Given the description of an element on the screen output the (x, y) to click on. 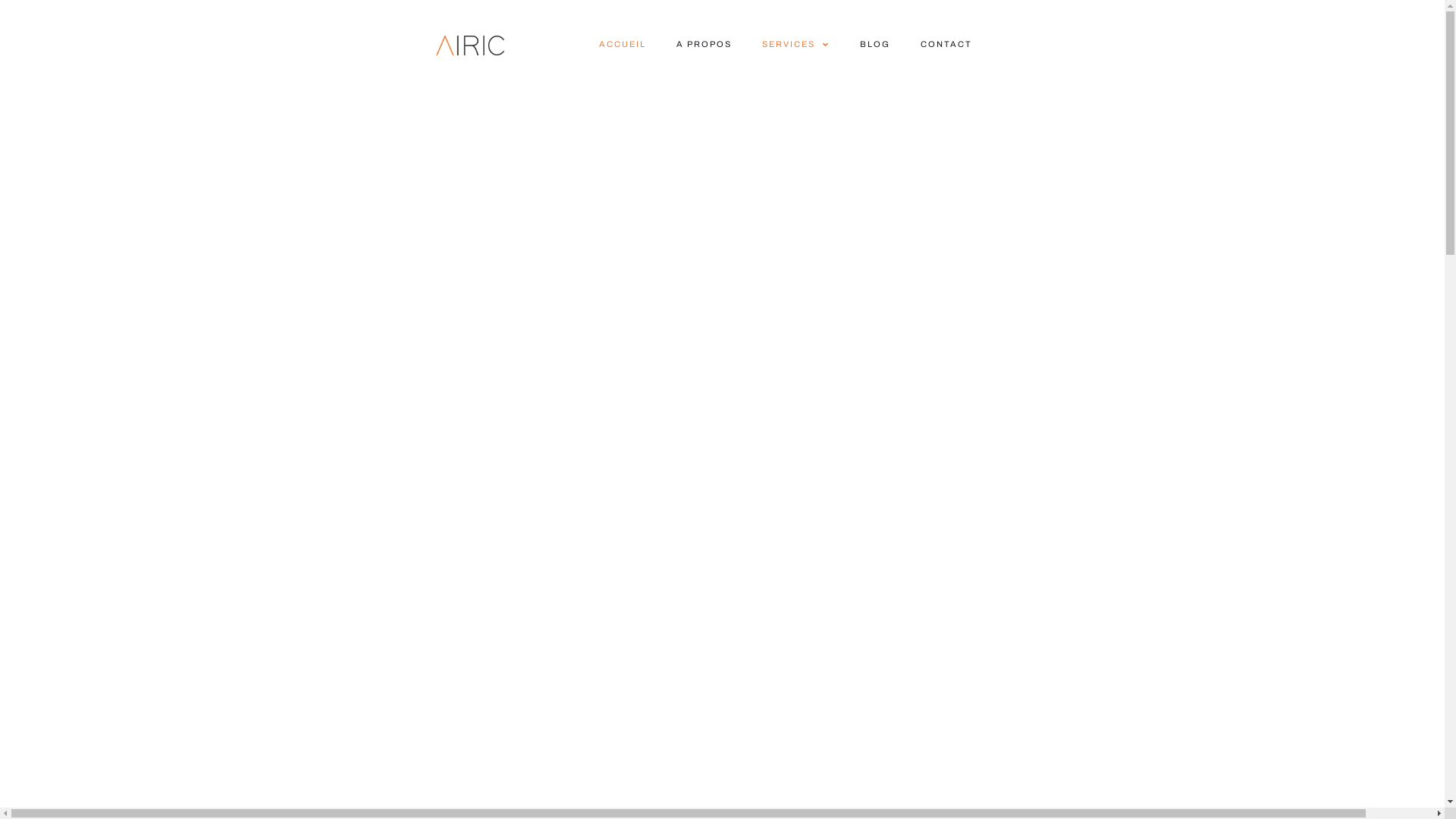
A PROPOS Element type: text (703, 43)
BLOG Element type: text (874, 43)
CONTACT Element type: text (946, 43)
ACCUEIL Element type: text (622, 43)
SERVICES Element type: text (795, 43)
